Given the description of an element on the screen output the (x, y) to click on. 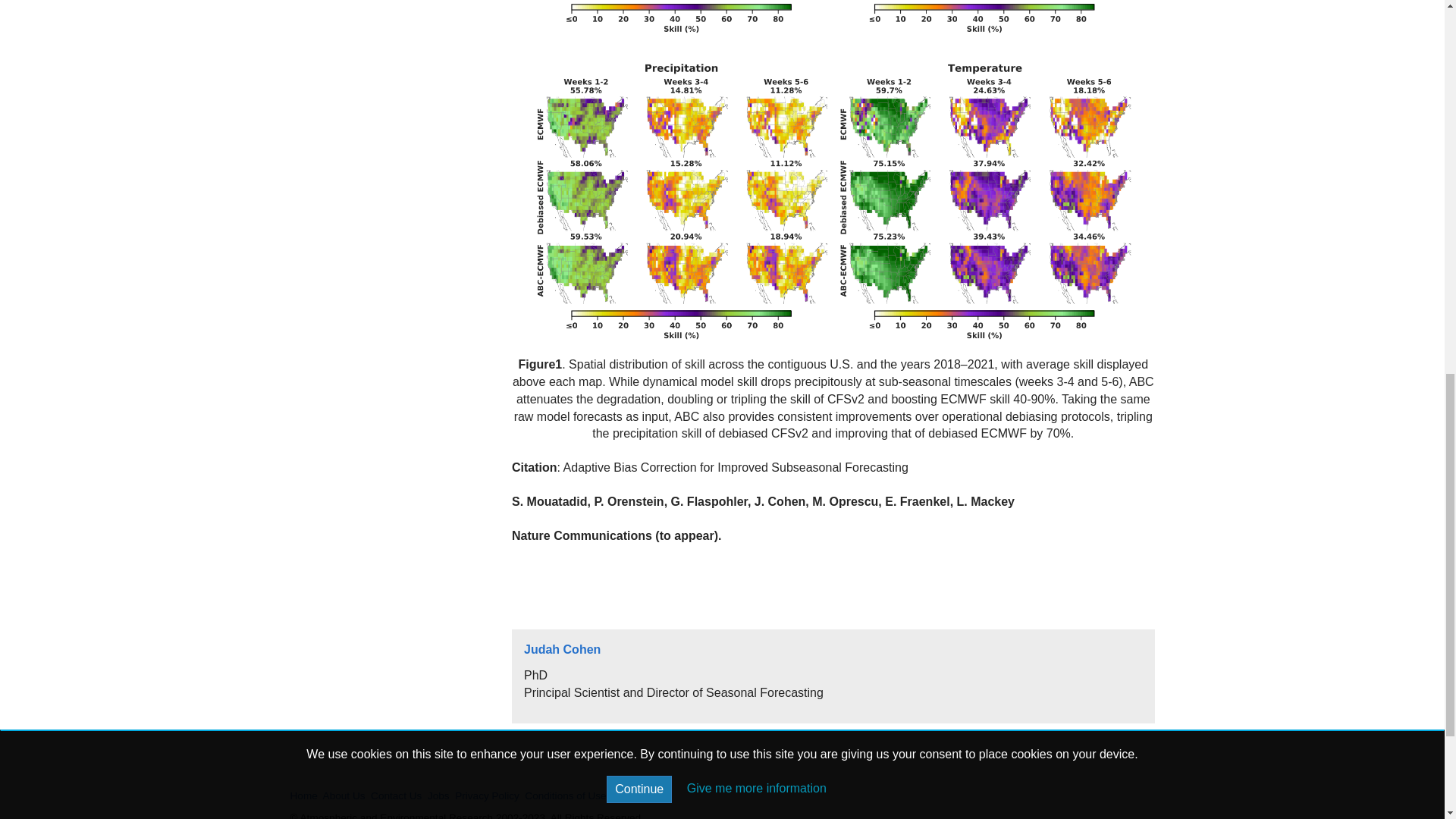
 Conditions of Use (564, 795)
Home (303, 795)
Contact Us (396, 795)
About Us (344, 795)
Sitemap (630, 795)
